Given the description of an element on the screen output the (x, y) to click on. 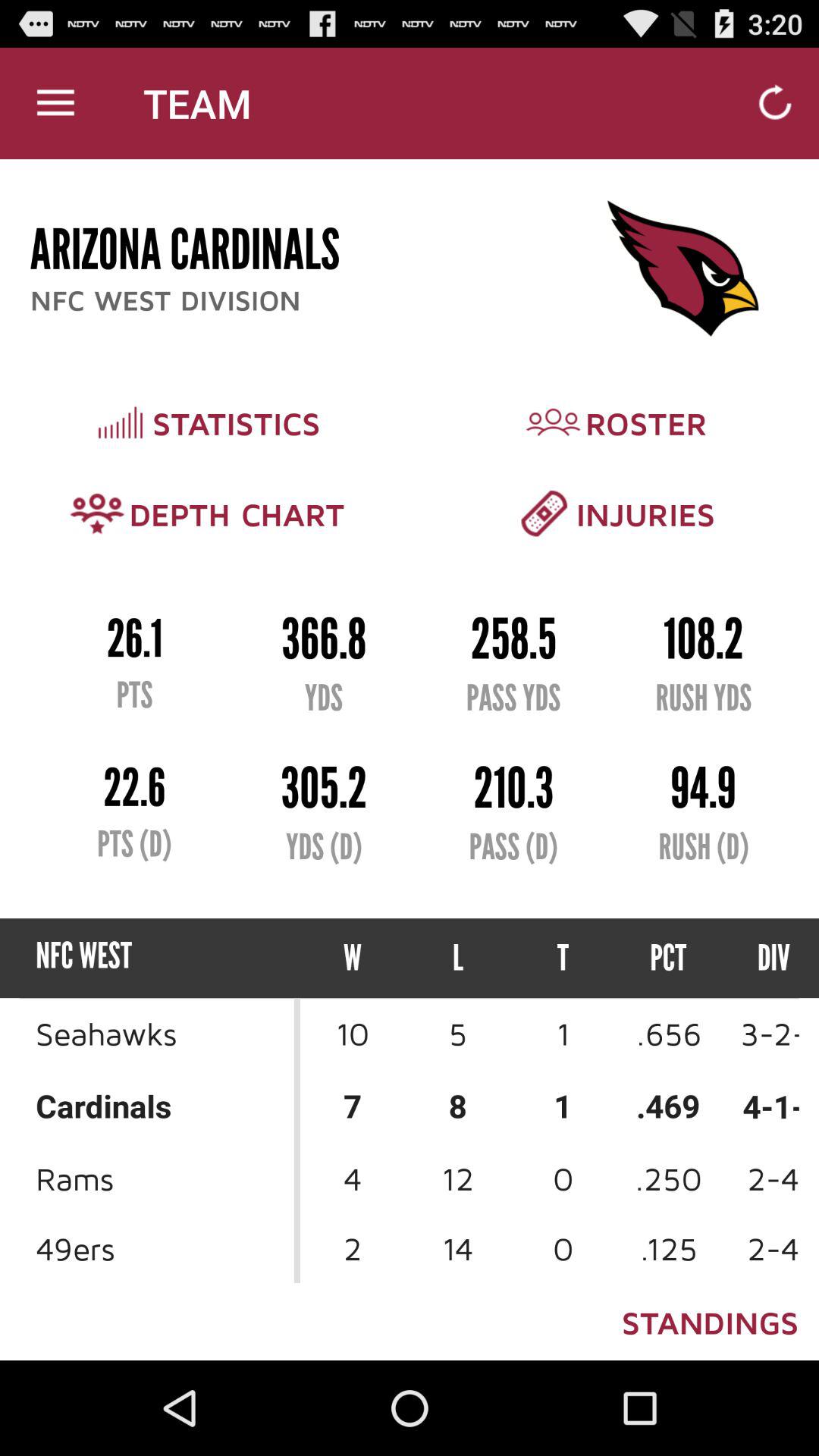
tap item to the right of the pct icon (760, 958)
